Given the description of an element on the screen output the (x, y) to click on. 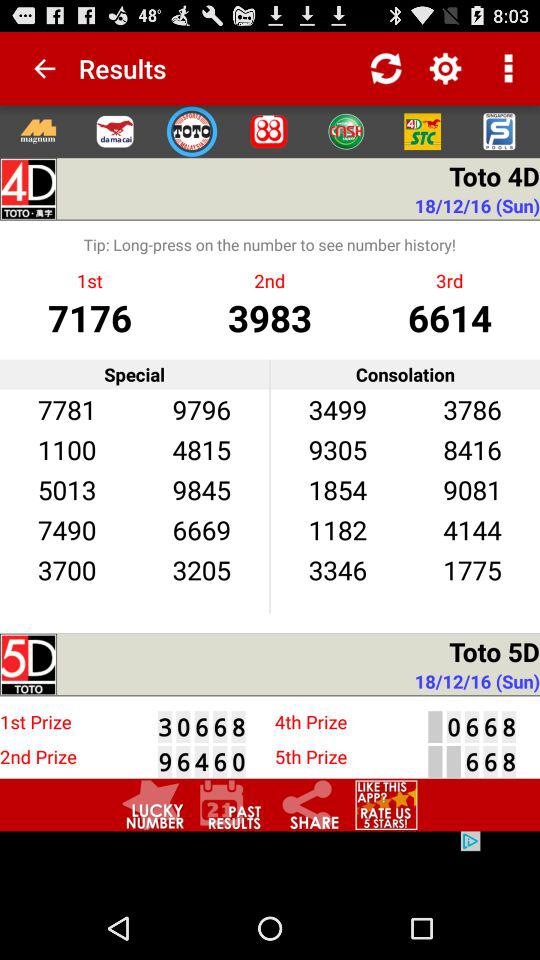
share the link (308, 804)
